Given the description of an element on the screen output the (x, y) to click on. 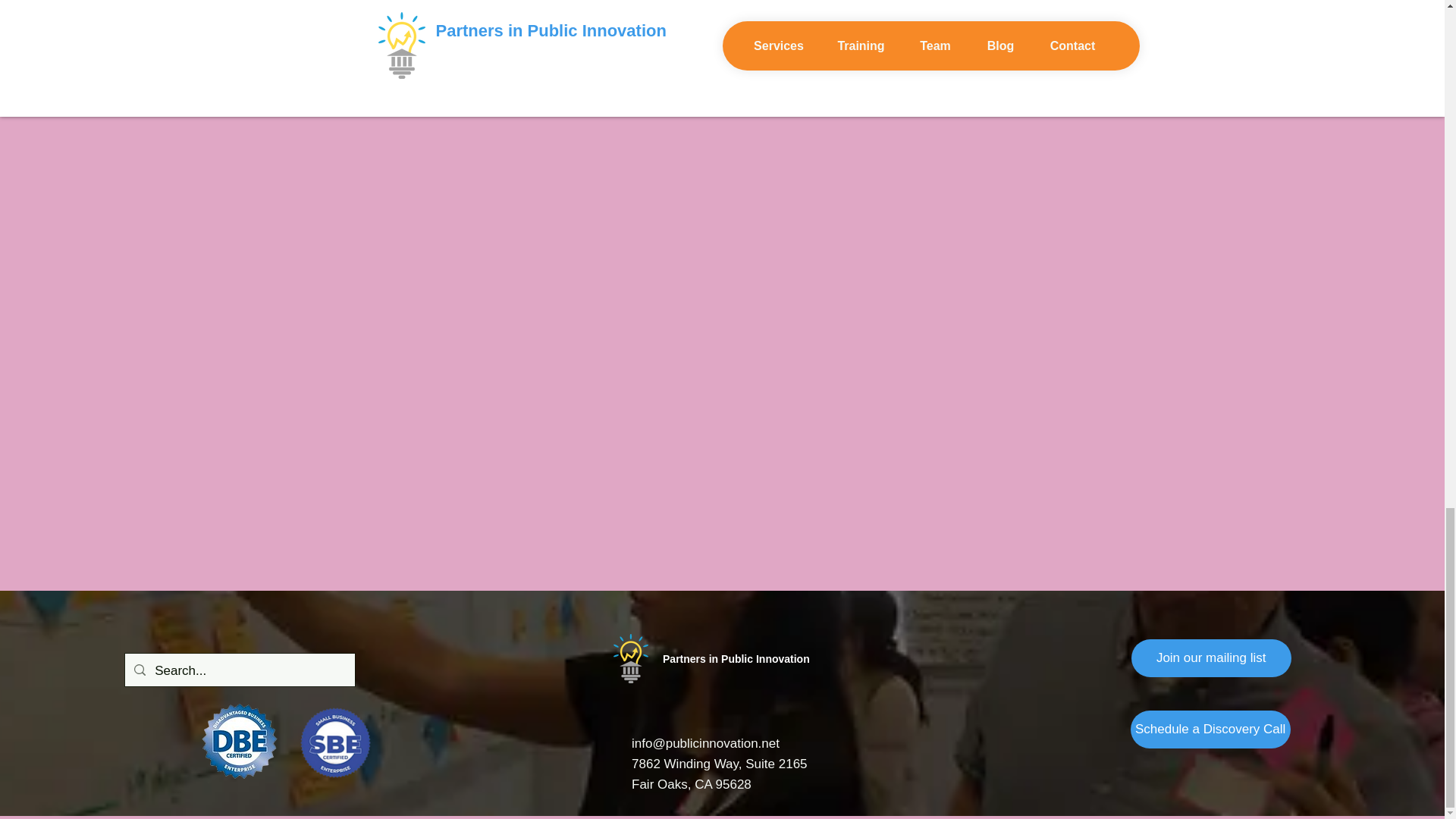
Partners in Public Innovation (735, 658)
Join our mailing list (1211, 658)
Schedule a Discovery Call (1210, 729)
